Given the description of an element on the screen output the (x, y) to click on. 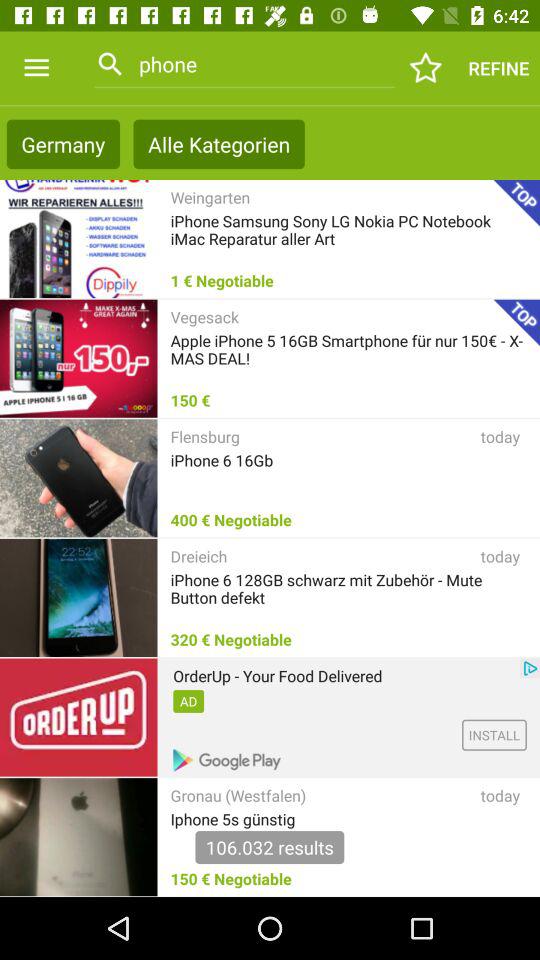
select refine icon (498, 67)
